Given the description of an element on the screen output the (x, y) to click on. 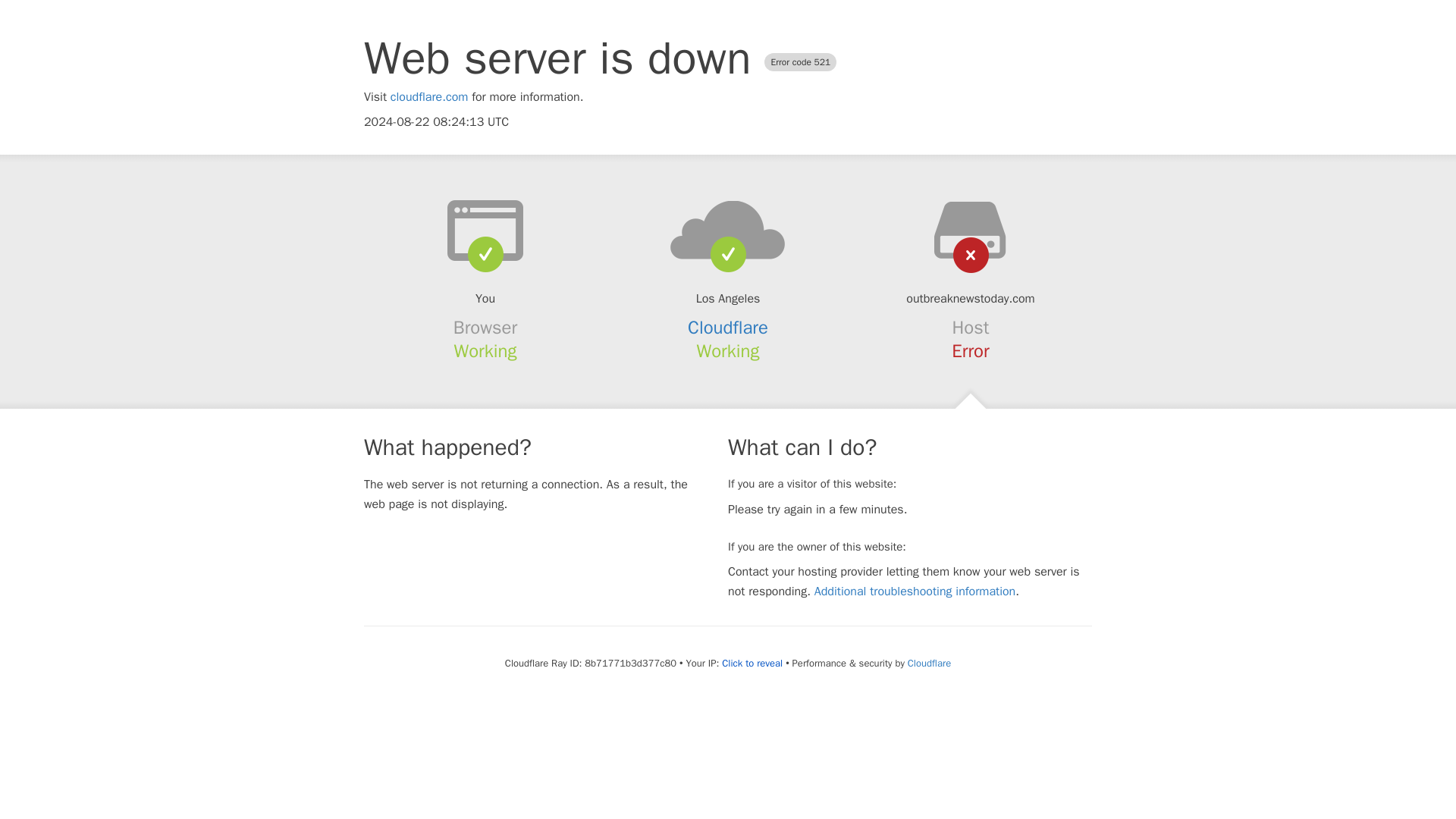
Additional troubleshooting information (913, 590)
Click to reveal (752, 663)
cloudflare.com (429, 96)
Cloudflare (928, 662)
Cloudflare (727, 327)
